Given the description of an element on the screen output the (x, y) to click on. 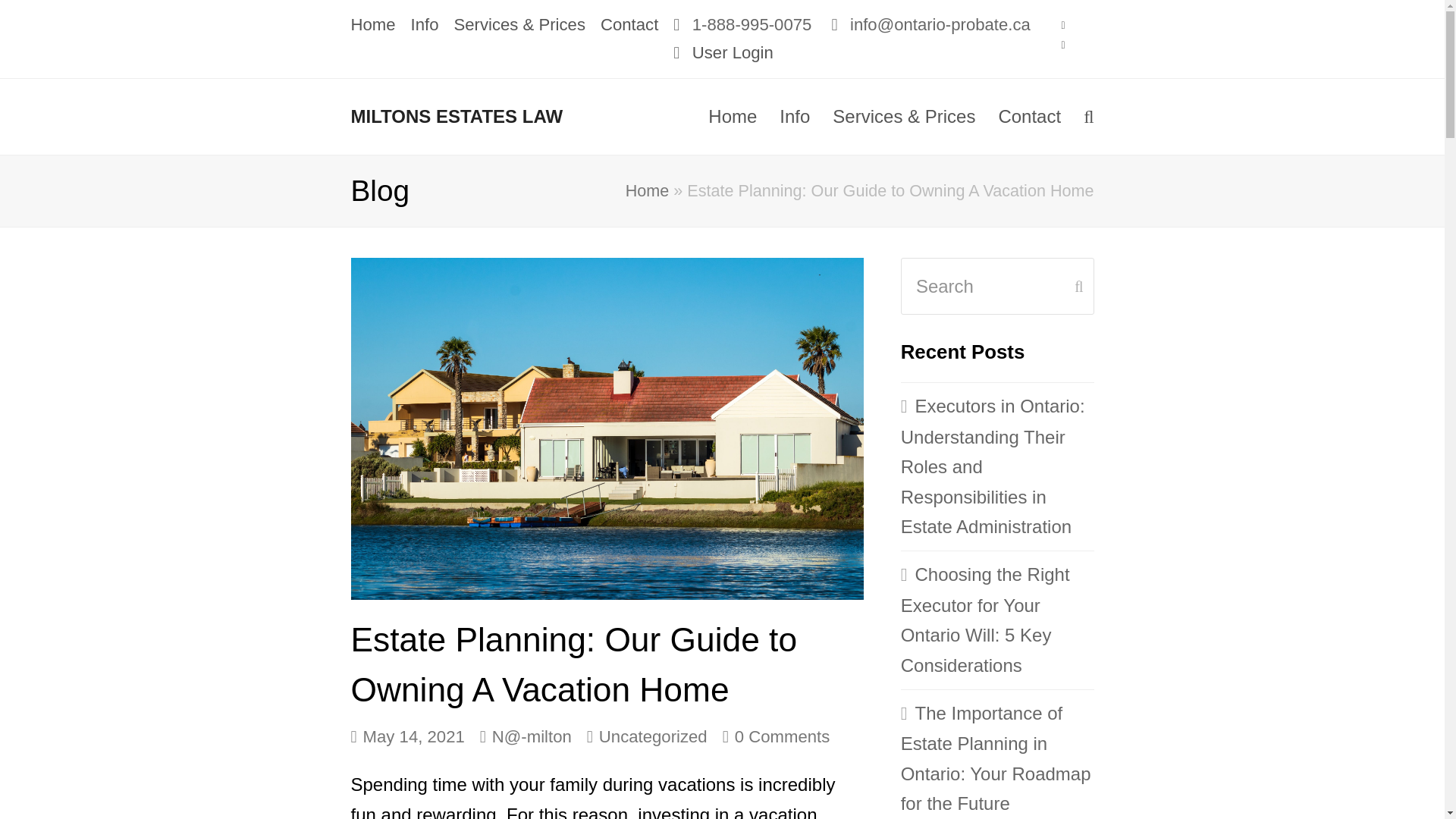
Uncategorized (652, 736)
0 Comments (775, 737)
Info (424, 24)
Home (372, 24)
Email (1062, 25)
Phone (1062, 44)
Contact (628, 24)
